Given the description of an element on the screen output the (x, y) to click on. 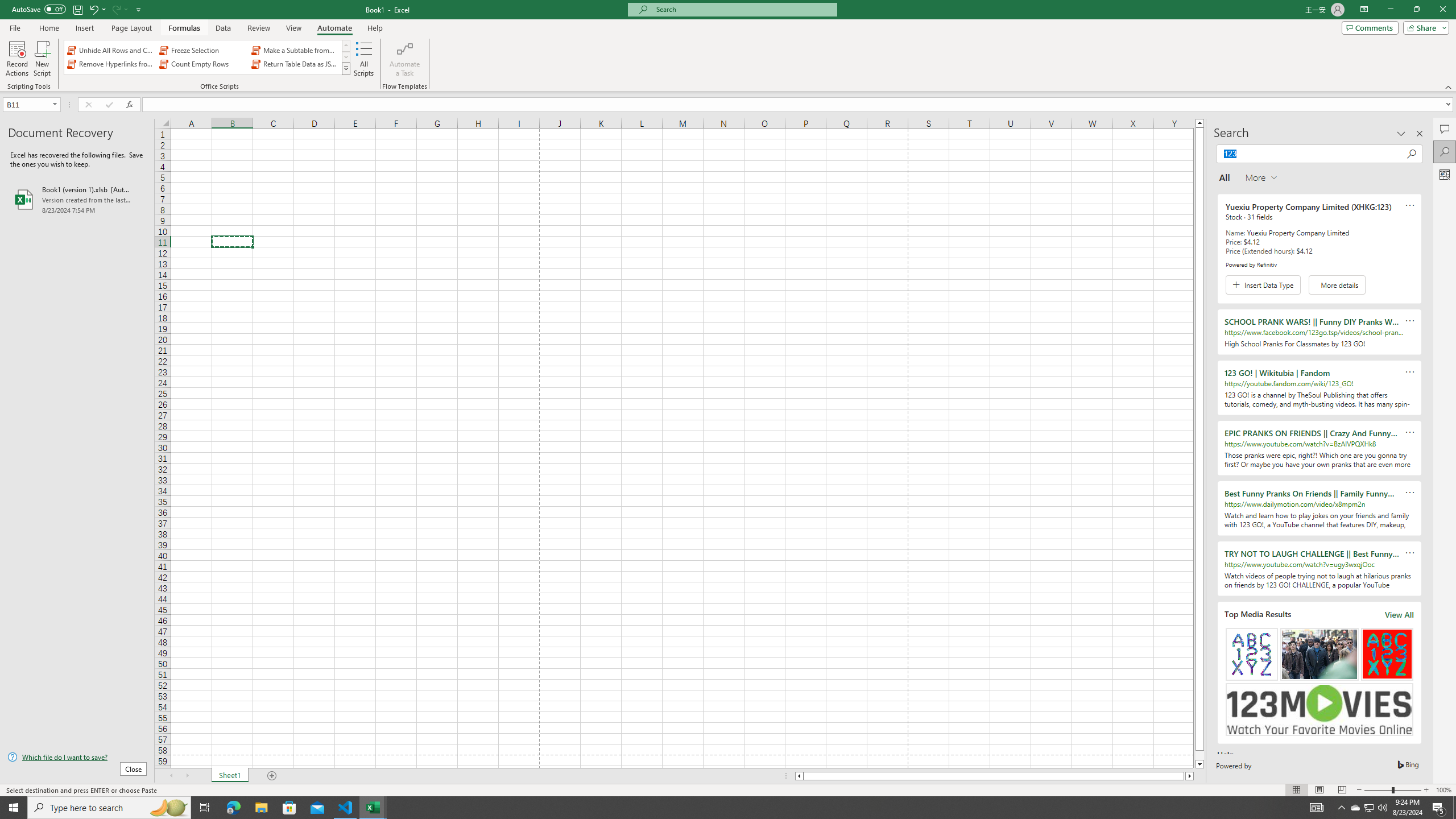
New Script (41, 58)
